Given the description of an element on the screen output the (x, y) to click on. 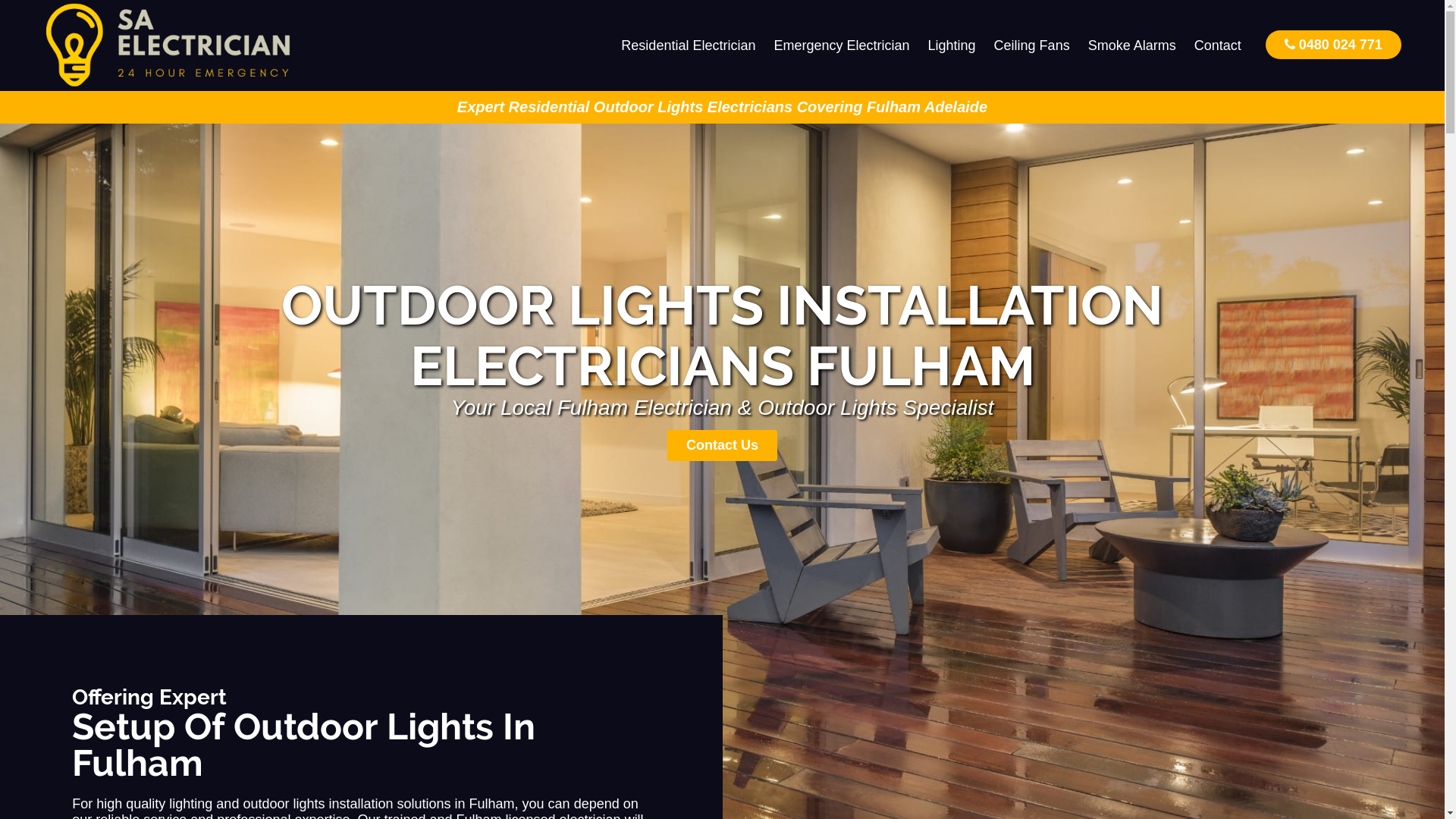
Smoke Alarms Element type: text (1132, 45)
0480 024 771 Element type: text (1333, 44)
Lighting Element type: text (952, 45)
Ceiling Fans Element type: text (1032, 45)
Residential Electrician Element type: text (687, 45)
Emergency Electrician Element type: text (841, 45)
Contact Us Element type: text (722, 445)
Contact Element type: text (1217, 45)
